Given the description of an element on the screen output the (x, y) to click on. 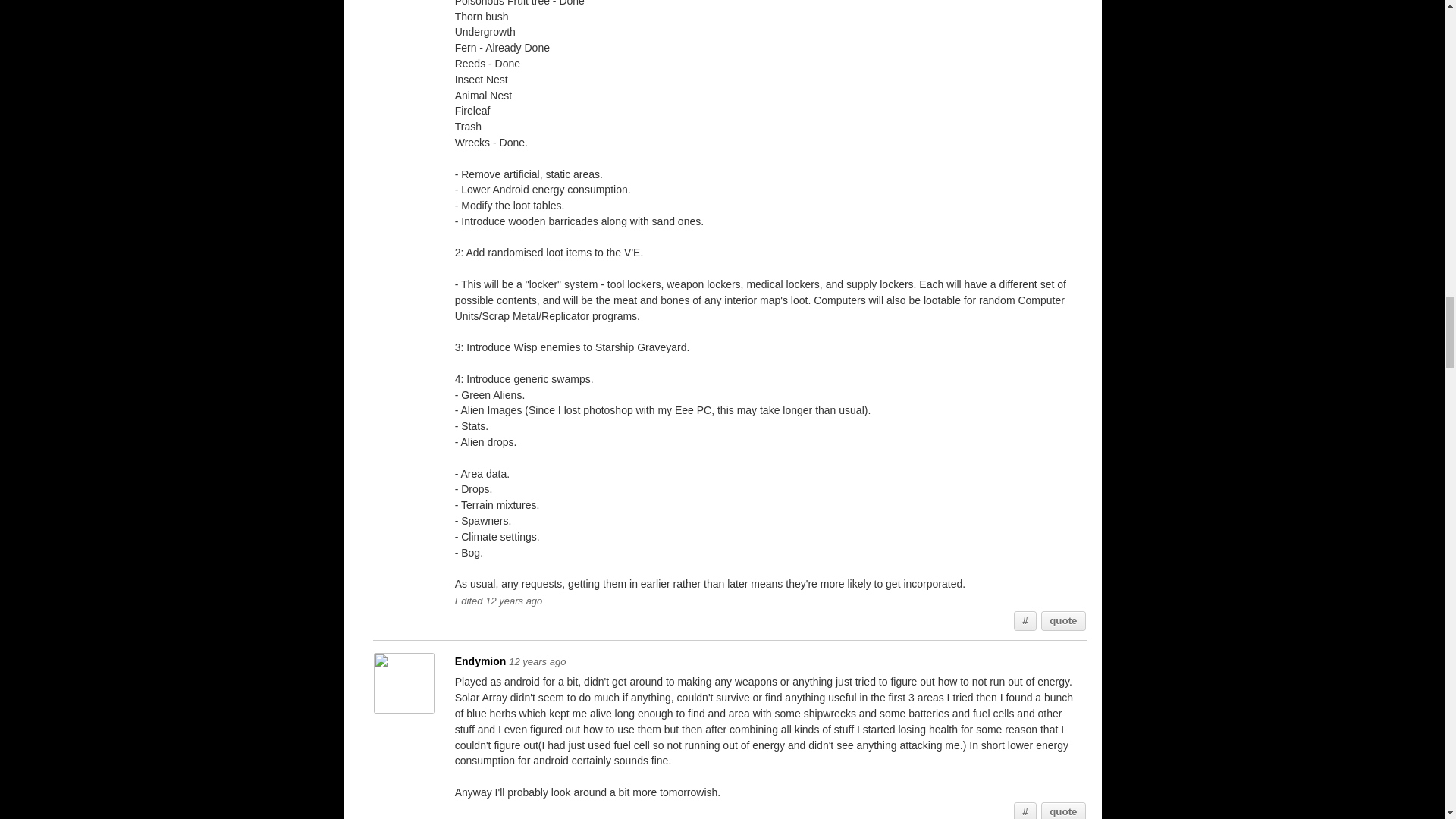
Link to this post (1024, 620)
Link to this post (1024, 811)
